Given the description of an element on the screen output the (x, y) to click on. 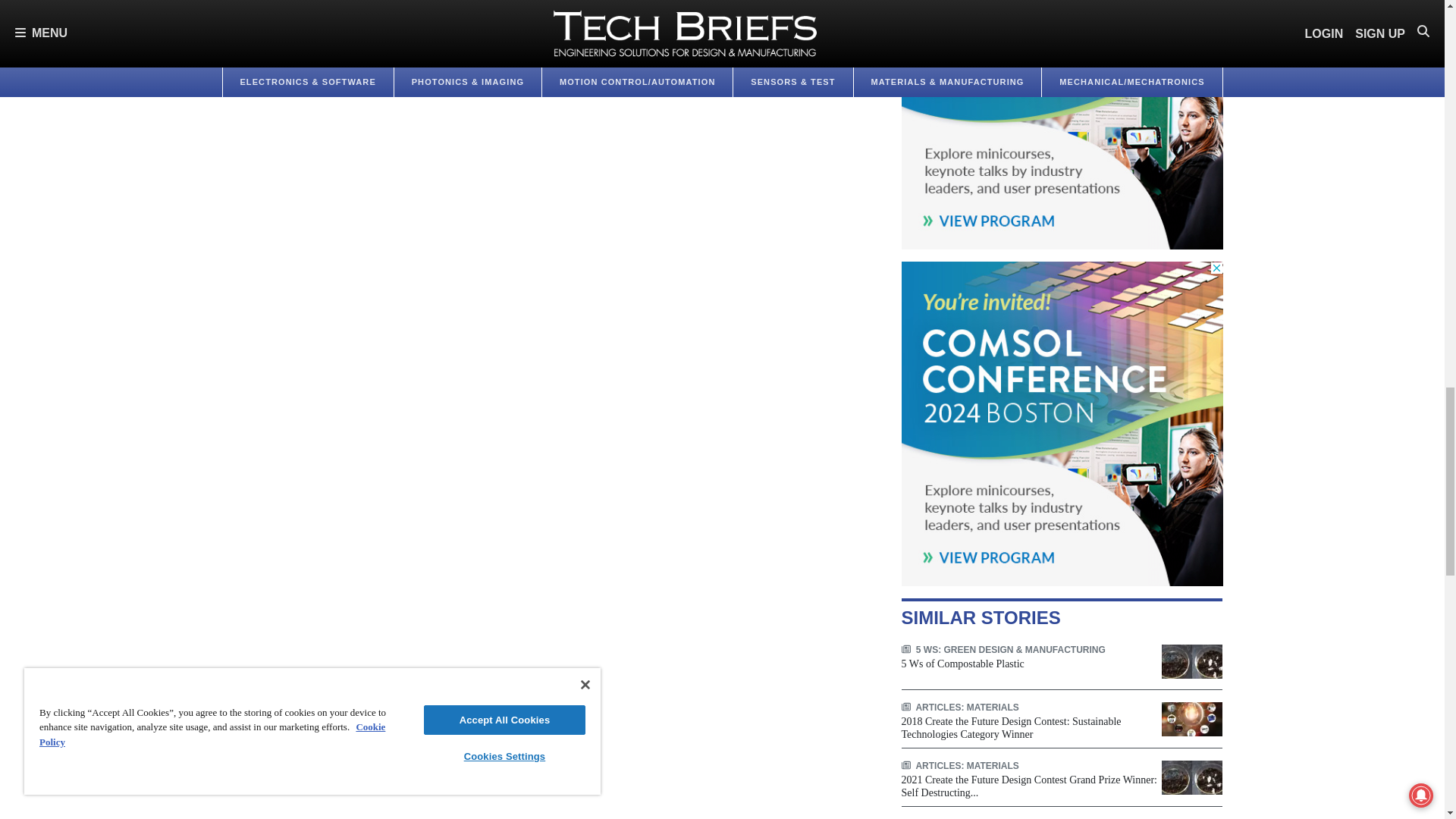
3rd party ad content (1062, 124)
3rd party ad content (1062, 423)
